Given the description of an element on the screen output the (x, y) to click on. 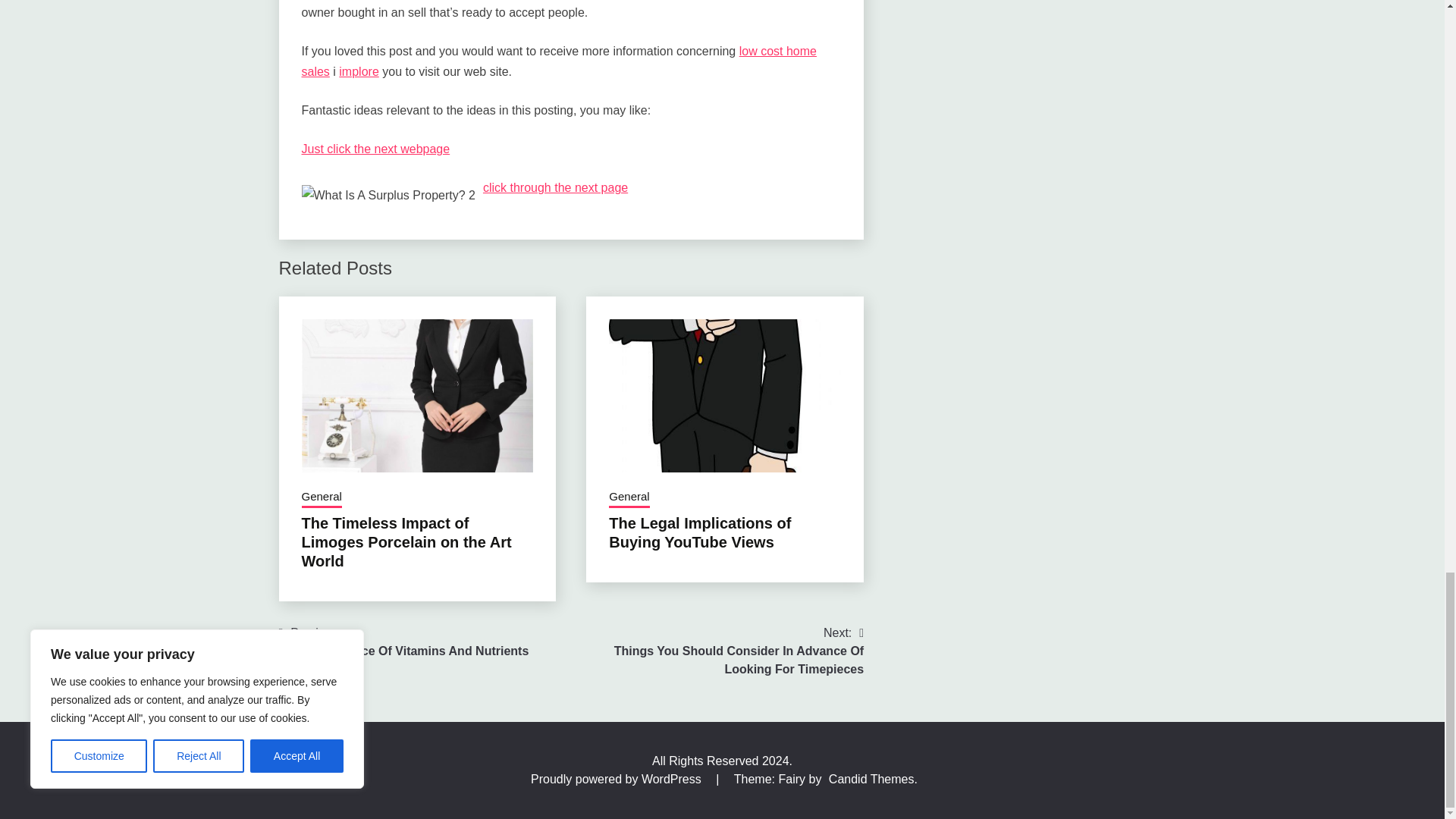
implore (358, 71)
Just click the next webpage (375, 148)
click through the next page (555, 187)
General (321, 497)
low cost home sales (558, 61)
The Timeless Impact of Limoges Porcelain on the Art World (406, 542)
